Given the description of an element on the screen output the (x, y) to click on. 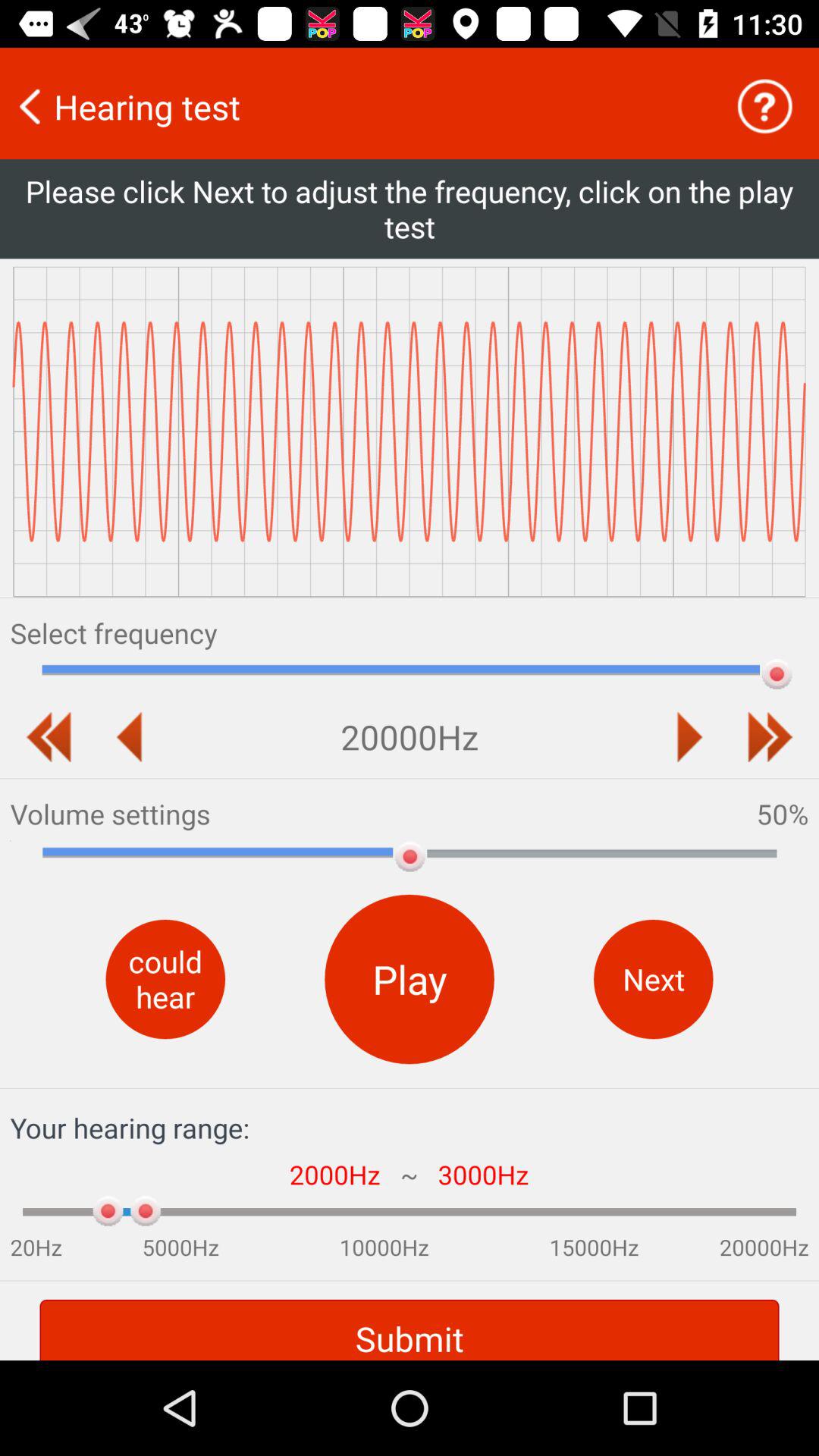
play (689, 737)
